Given the description of an element on the screen output the (x, y) to click on. 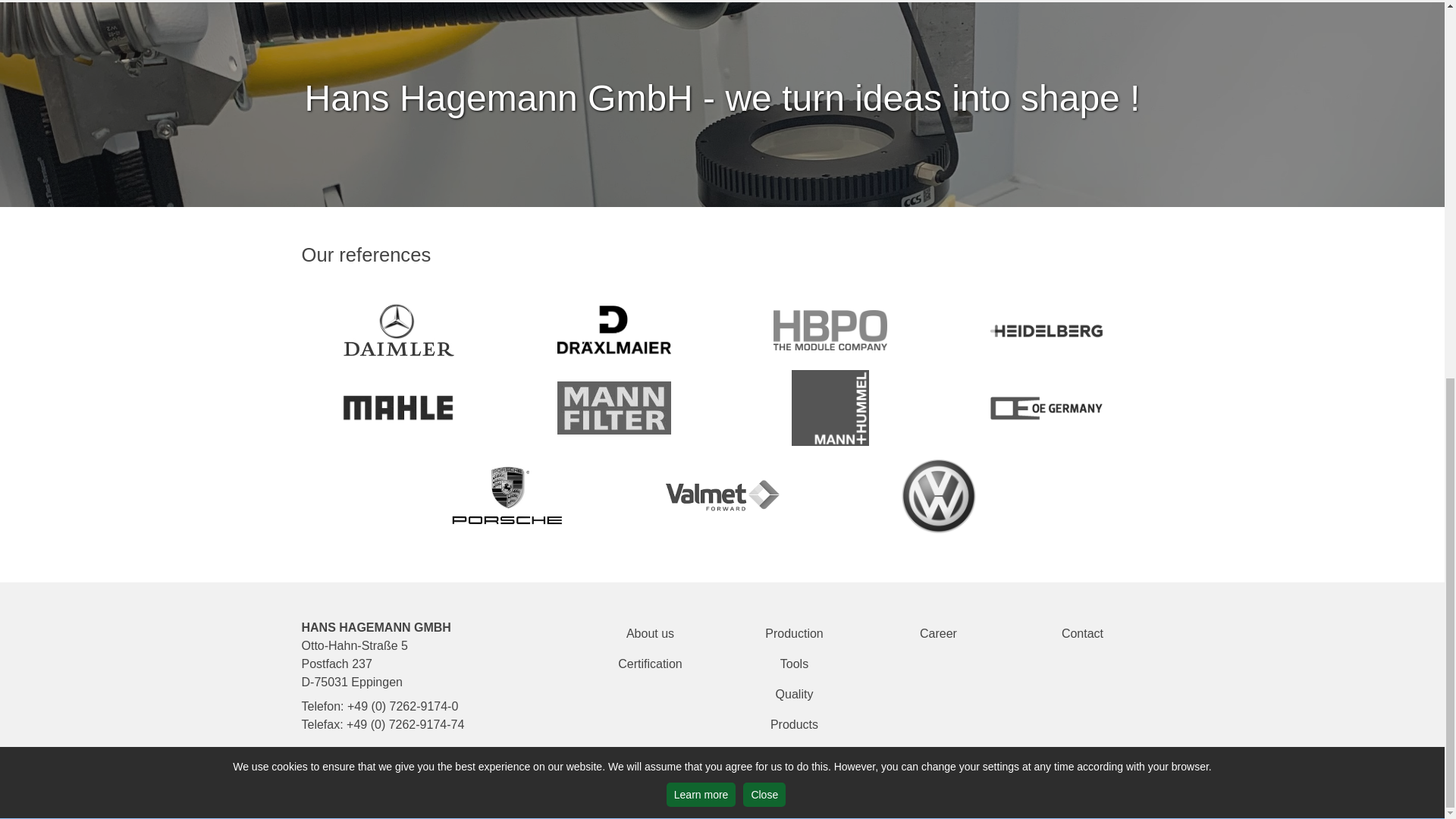
Certification (649, 664)
Products (793, 725)
About us (649, 634)
Quality (793, 694)
Production (793, 634)
Tools (793, 664)
